Given the description of an element on the screen output the (x, y) to click on. 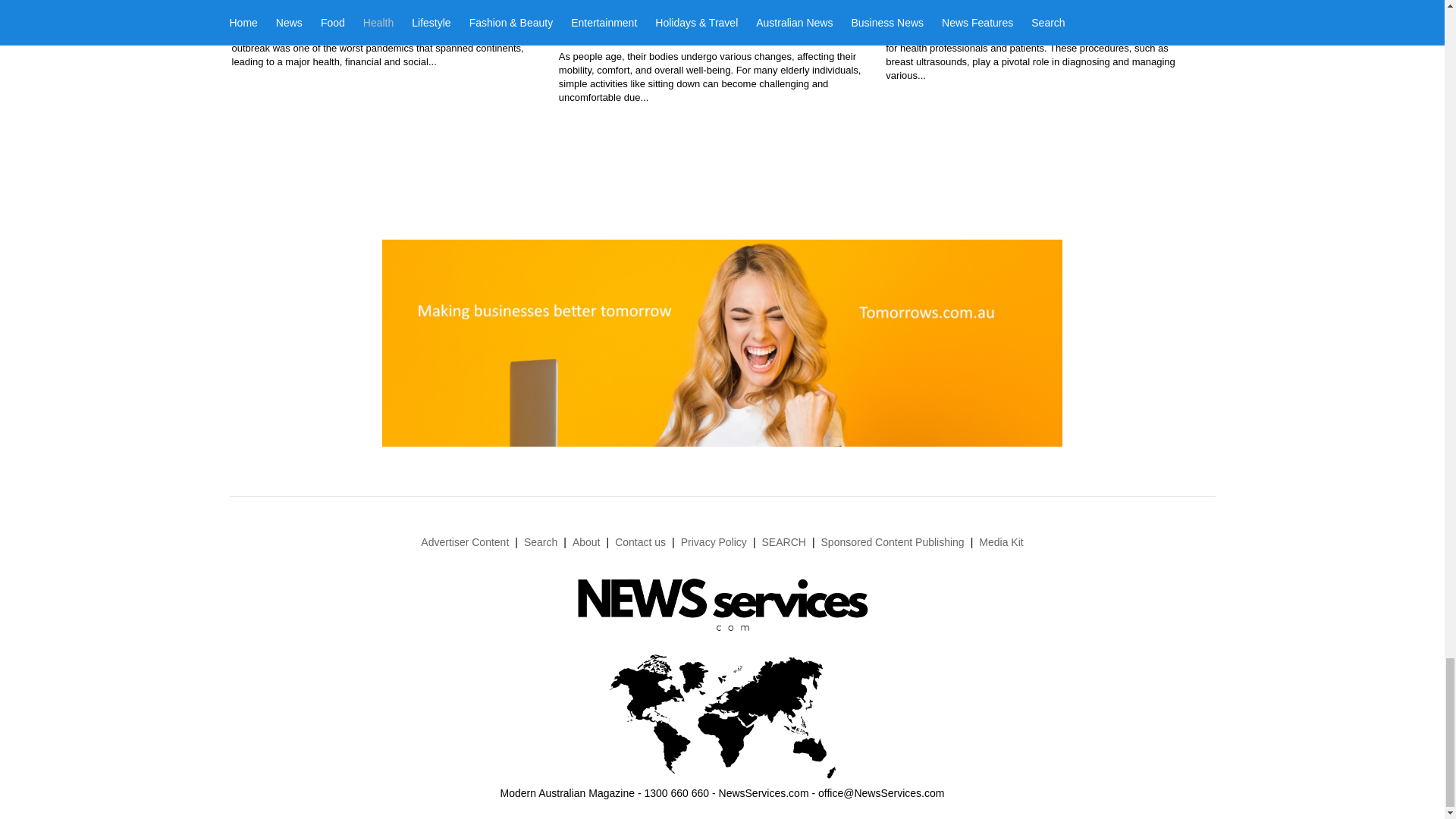
Navigating Your Breast Imaging Test: A Guide for Patients (1022, 7)
